Given the description of an element on the screen output the (x, y) to click on. 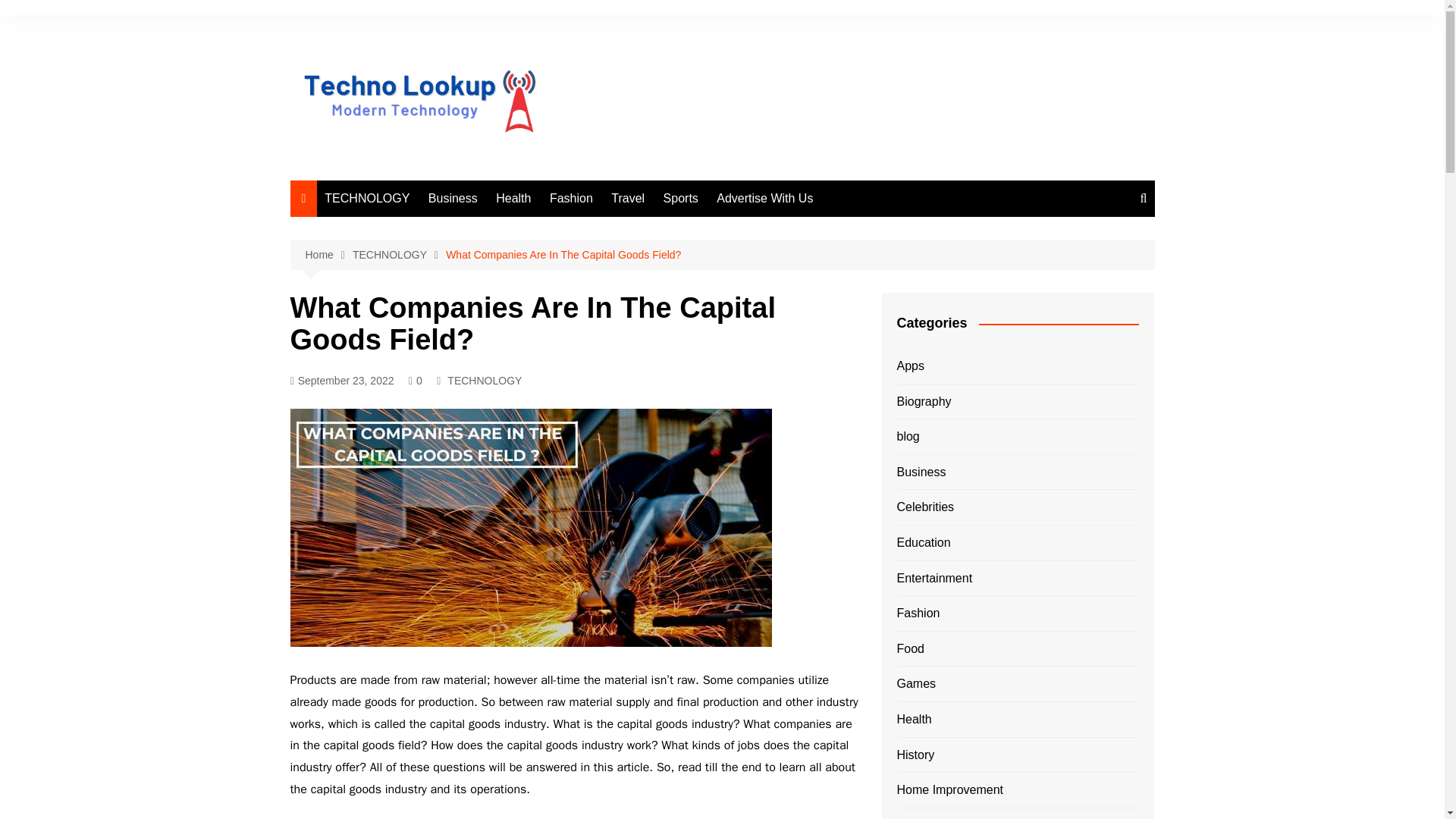
Fashion (570, 198)
TECHNOLOGY (483, 380)
Travel (628, 198)
September 23, 2022 (341, 380)
TECHNOLOGY (398, 254)
Home (328, 254)
Business (452, 198)
What Companies Are In The Capital Goods Field? (563, 254)
TECHNOLOGY (366, 198)
Sports (681, 198)
